Given the description of an element on the screen output the (x, y) to click on. 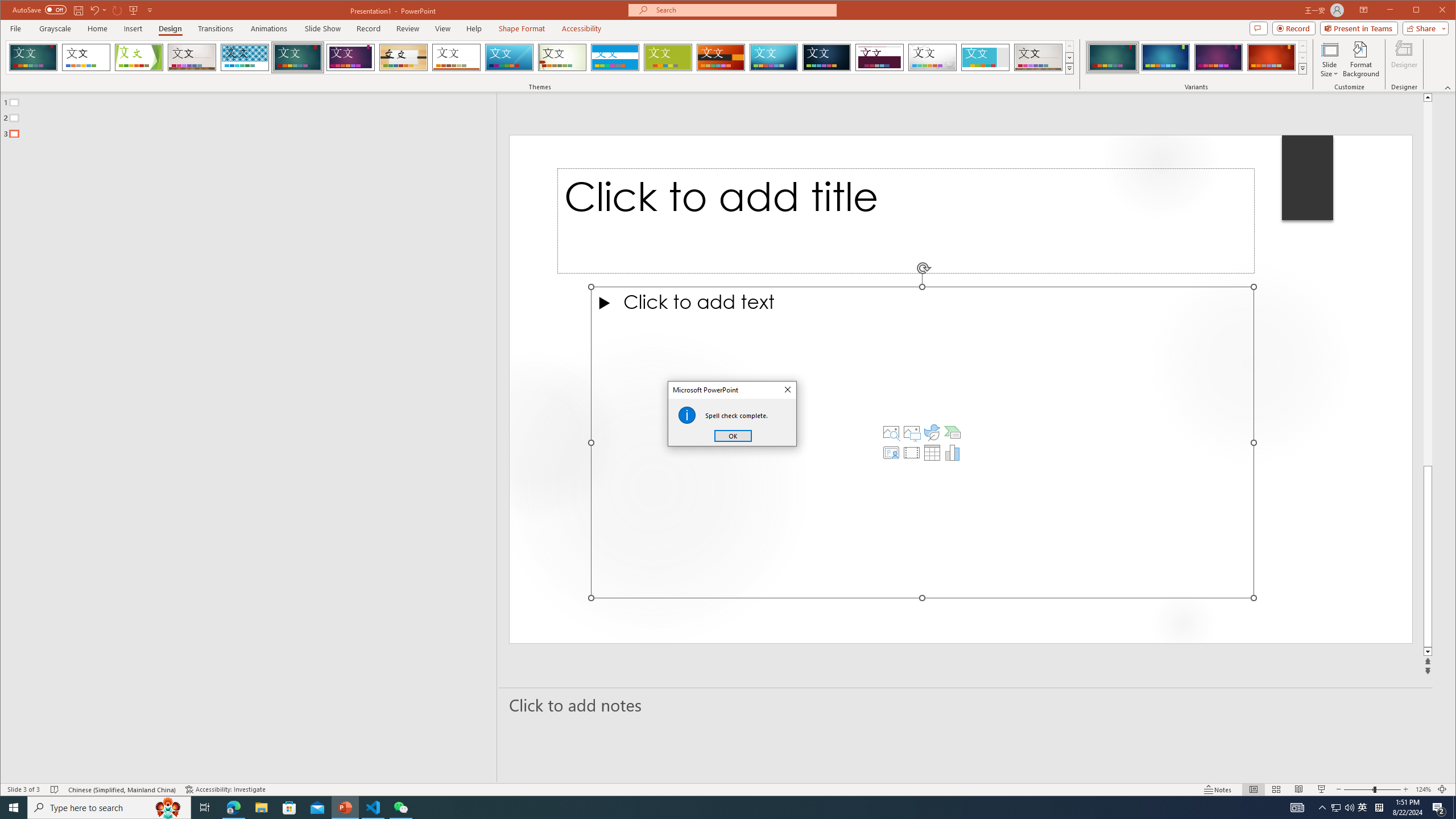
Ion Variant 2 (1165, 57)
Wisp (561, 57)
Ion Boardroom (350, 57)
